Given the description of an element on the screen output the (x, y) to click on. 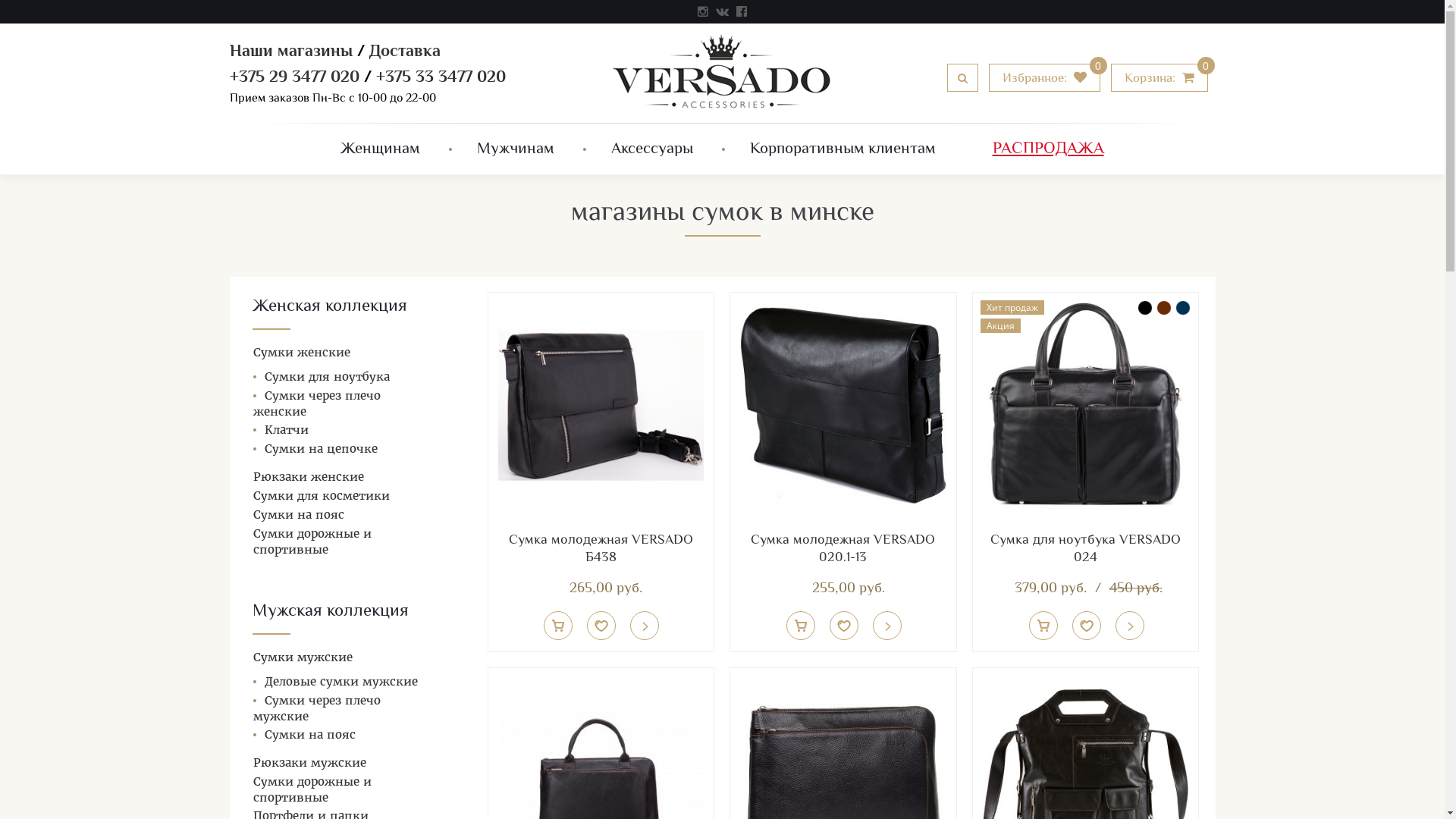
+375 33 3477 020 Element type: text (440, 78)
+375 29 3477 020 Element type: text (293, 78)
